Given the description of an element on the screen output the (x, y) to click on. 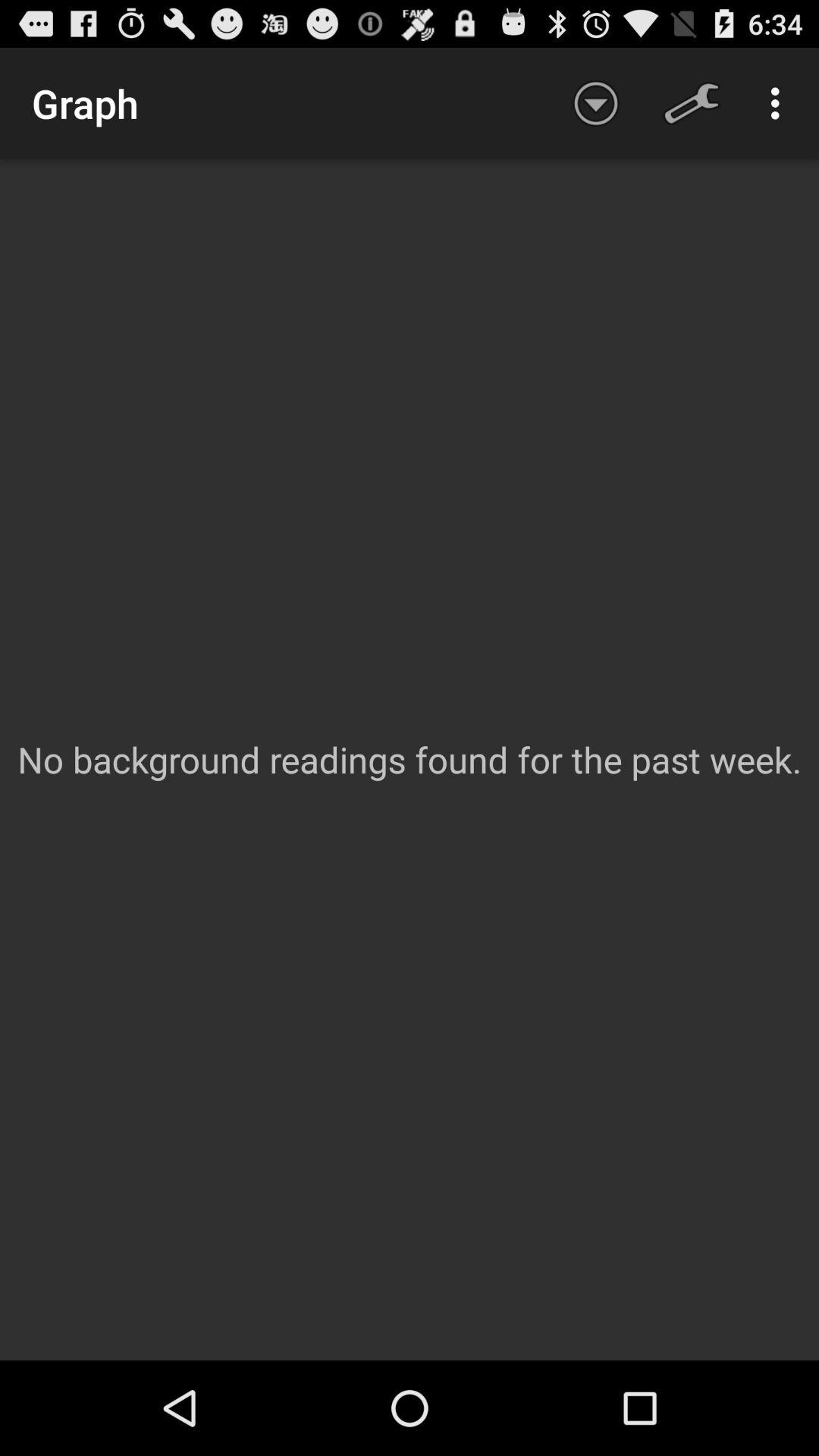
tap app to the right of graph (595, 103)
